Given the description of an element on the screen output the (x, y) to click on. 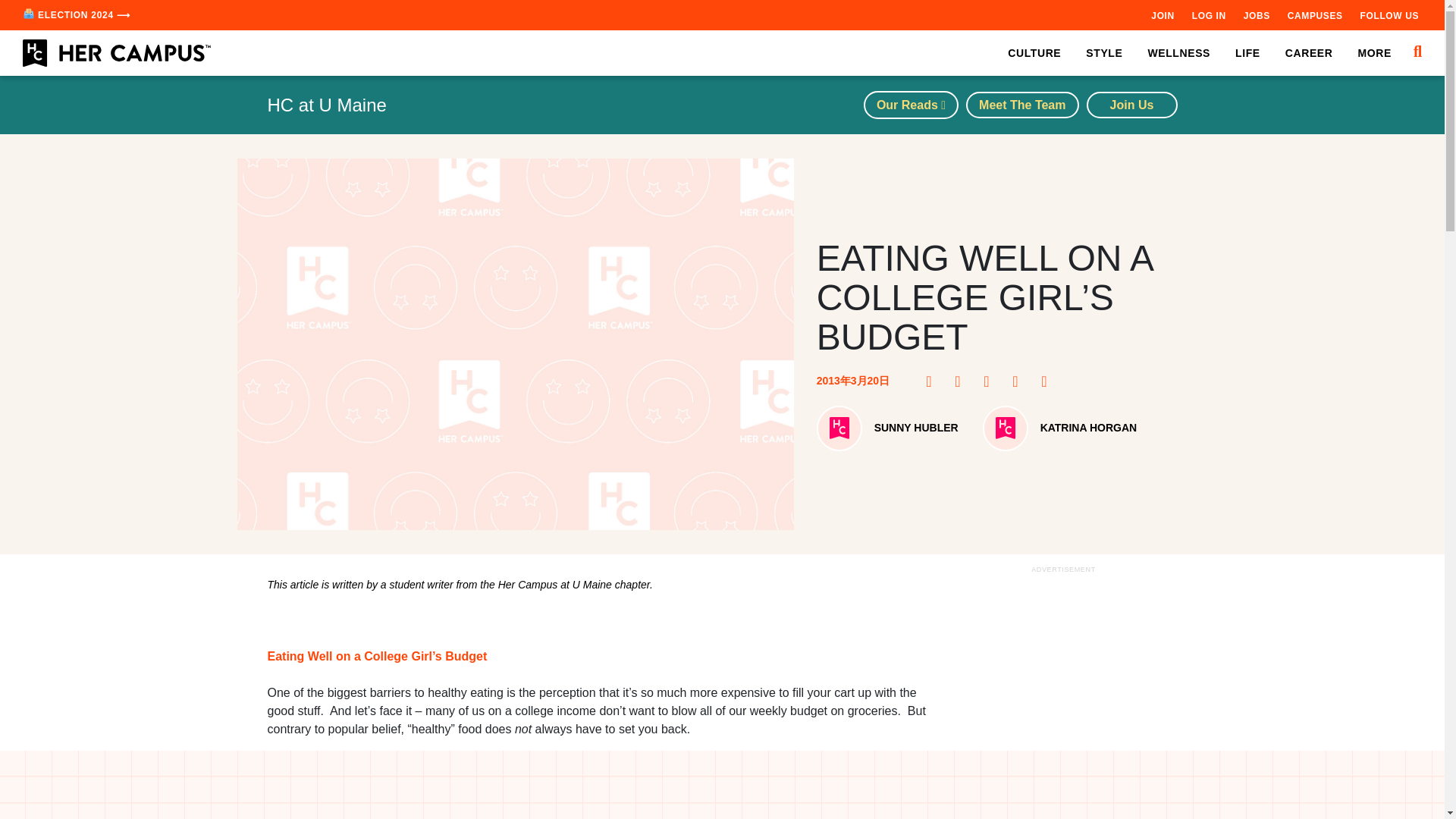
JOBS (1256, 15)
Facebook (933, 381)
CAMPUSES (1314, 15)
LinkedIn (1019, 381)
LOG IN (1208, 15)
JOIN (1162, 15)
Pinterest (962, 381)
Email (1049, 381)
Twitter (991, 381)
